Given the description of an element on the screen output the (x, y) to click on. 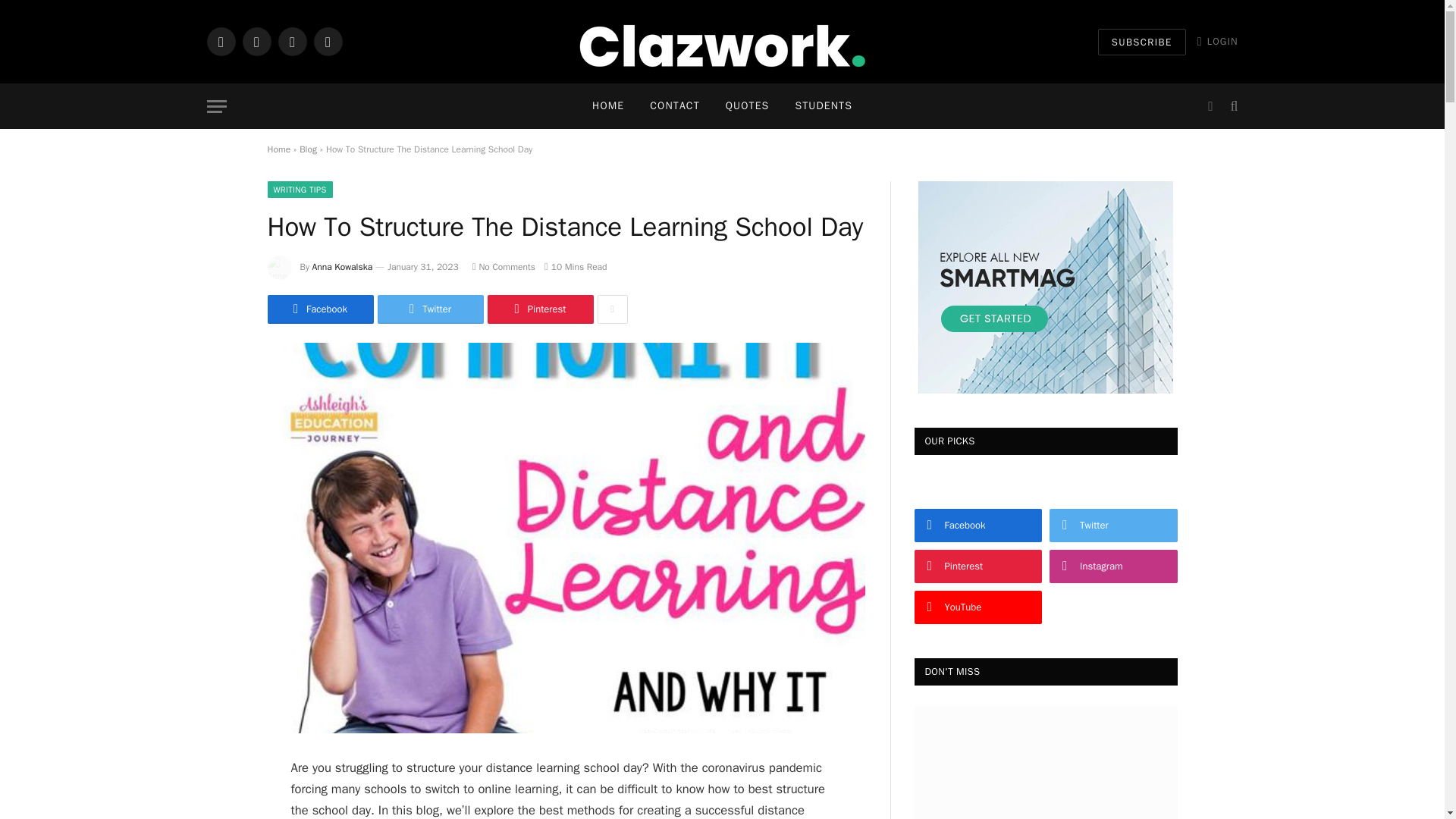
Clazwork.com (722, 41)
Pinterest (539, 308)
Instagram (291, 41)
Anna Kowalska (342, 266)
HOME (608, 105)
Blog (308, 149)
Twitter (430, 308)
Facebook (319, 308)
Switch to Dark Design - easier on eyes. (1209, 106)
CONTACT (674, 105)
